Given the description of an element on the screen output the (x, y) to click on. 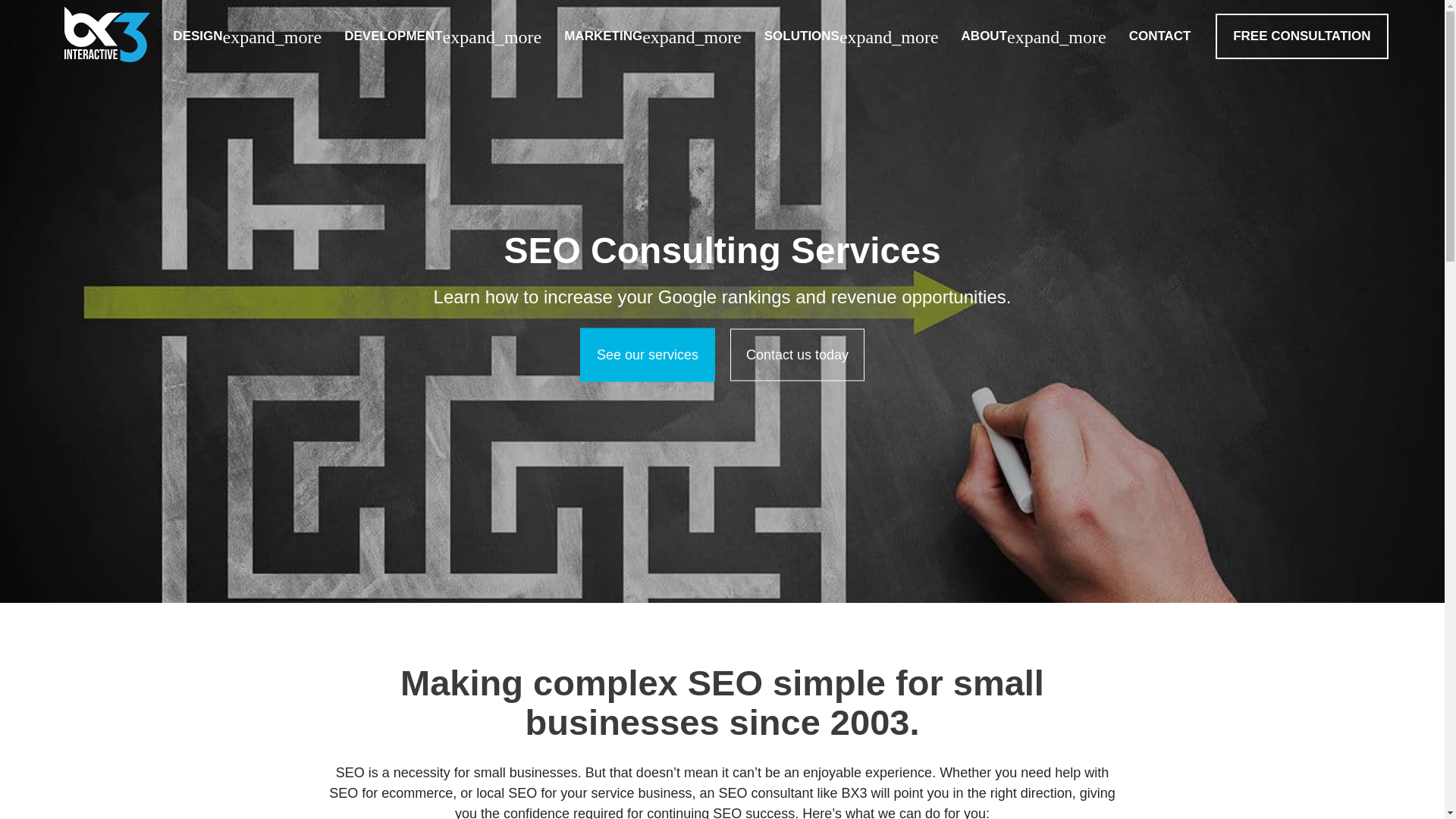
CONTACT (1160, 35)
See our services (646, 355)
Contact us today (797, 355)
FREE CONSULTATION (1301, 35)
